Given the description of an element on the screen output the (x, y) to click on. 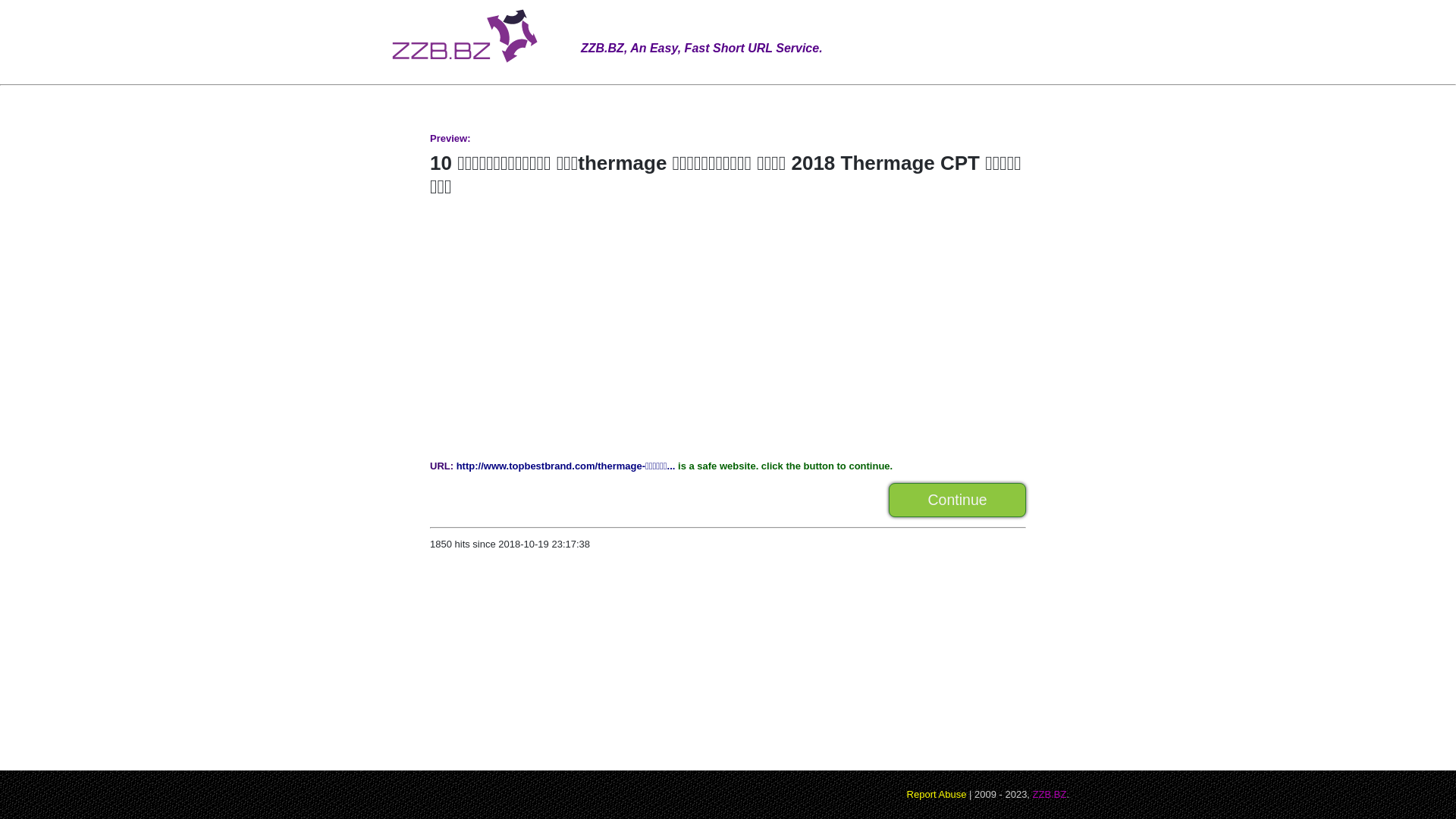
Report Abuse Element type: text (936, 794)
ZZB.BZ Element type: text (1049, 794)
 Continue  Element type: text (957, 500)
ZZB.BZ, An Easy, Fast Short URL Service. Element type: text (701, 27)
ZZB.BZ - short url Element type: hover (473, 38)
short url Element type: hover (473, 65)
